Given the description of an element on the screen output the (x, y) to click on. 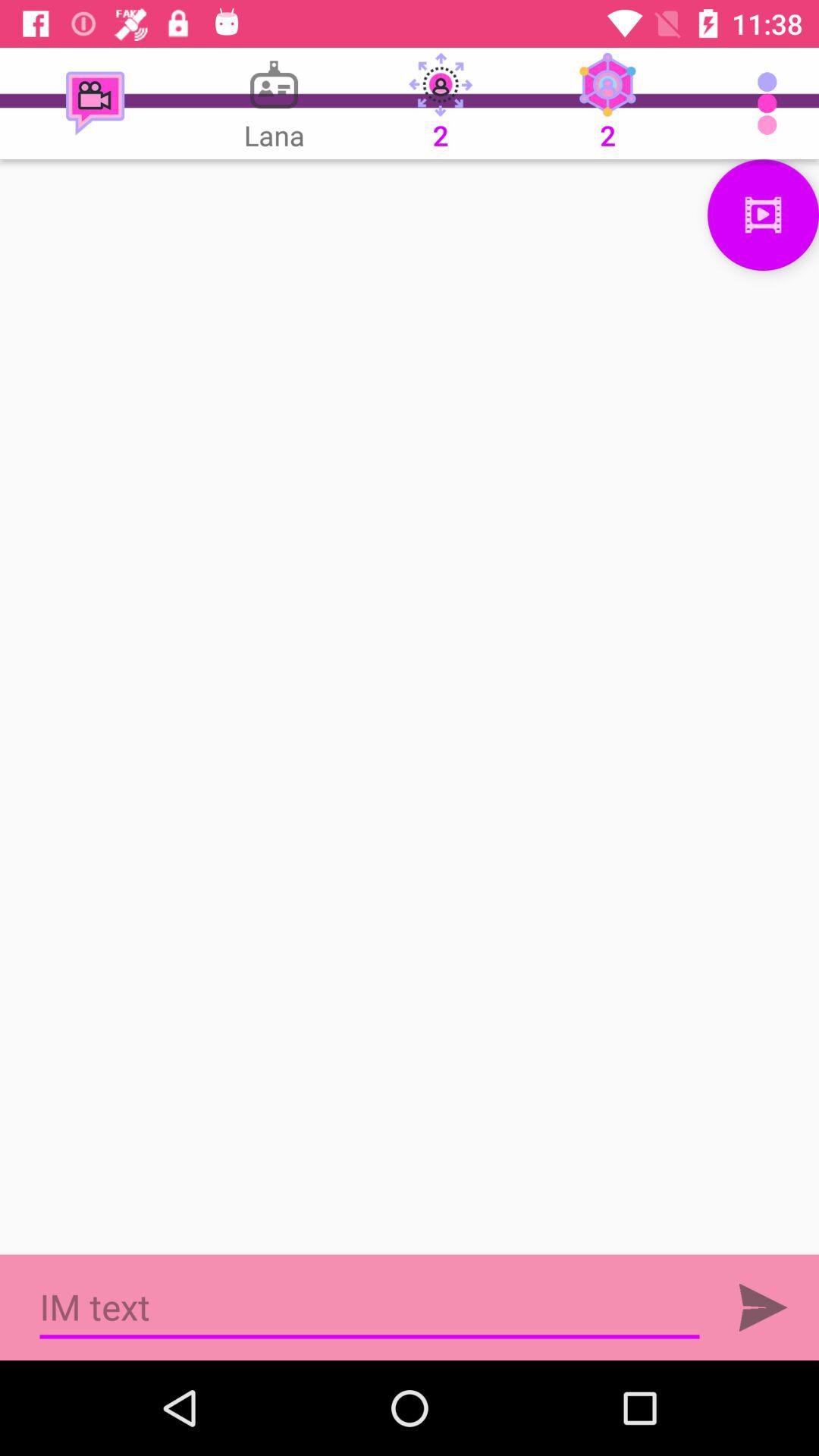
play (763, 1307)
